Given the description of an element on the screen output the (x, y) to click on. 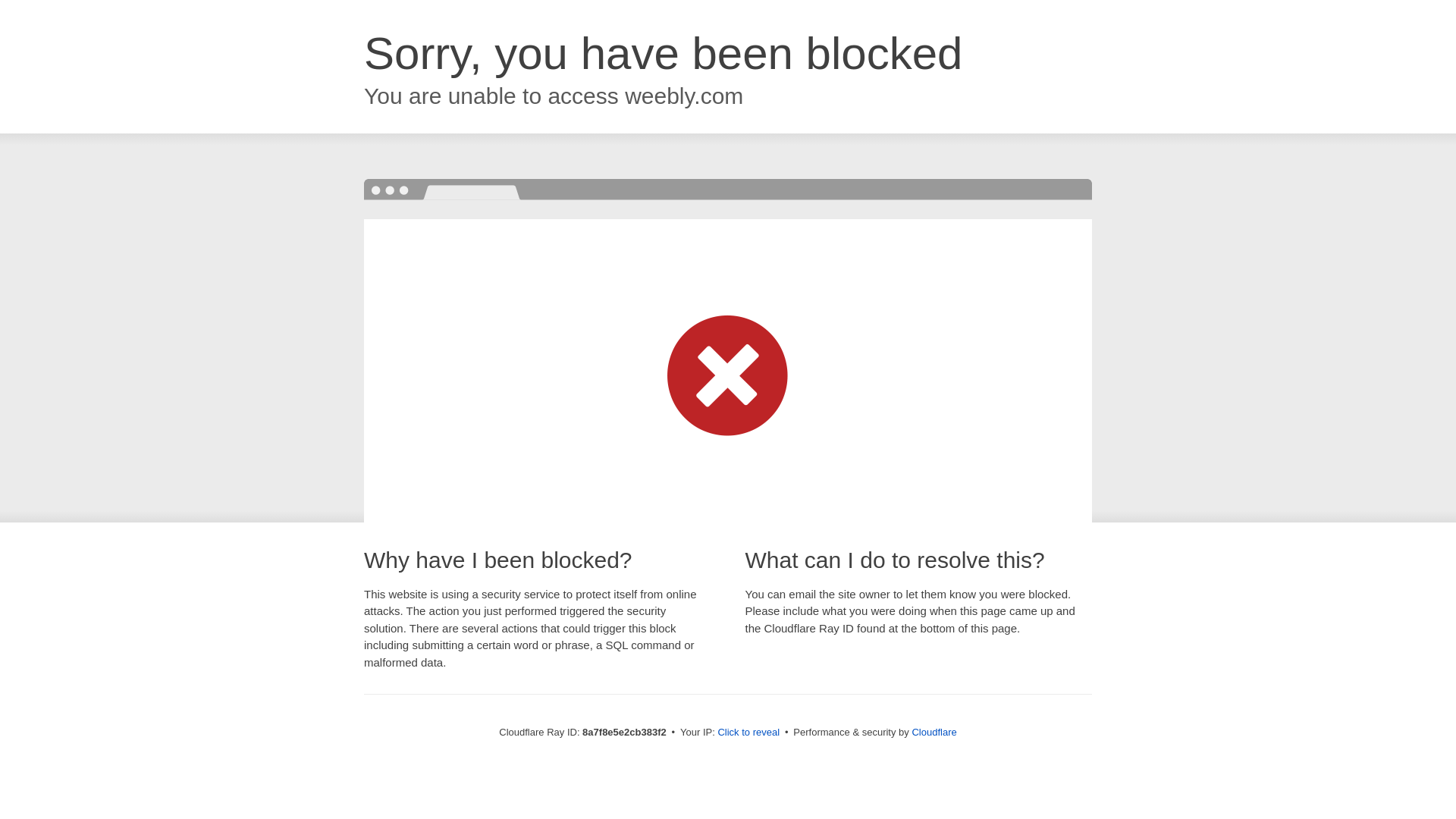
Click to reveal (747, 732)
Cloudflare (933, 731)
